Given the description of an element on the screen output the (x, y) to click on. 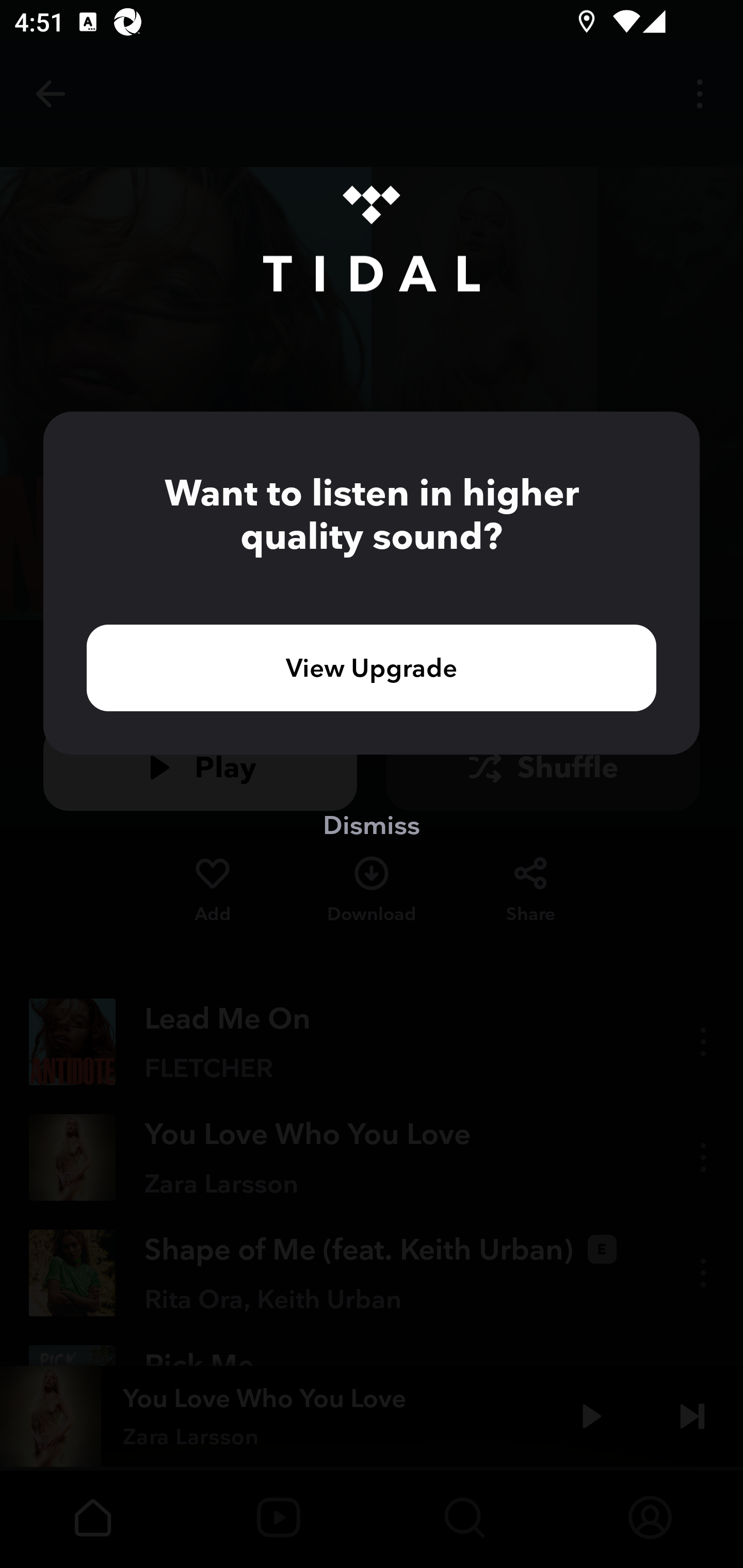
View Upgrade (371, 667)
Dismiss (371, 824)
